Given the description of an element on the screen output the (x, y) to click on. 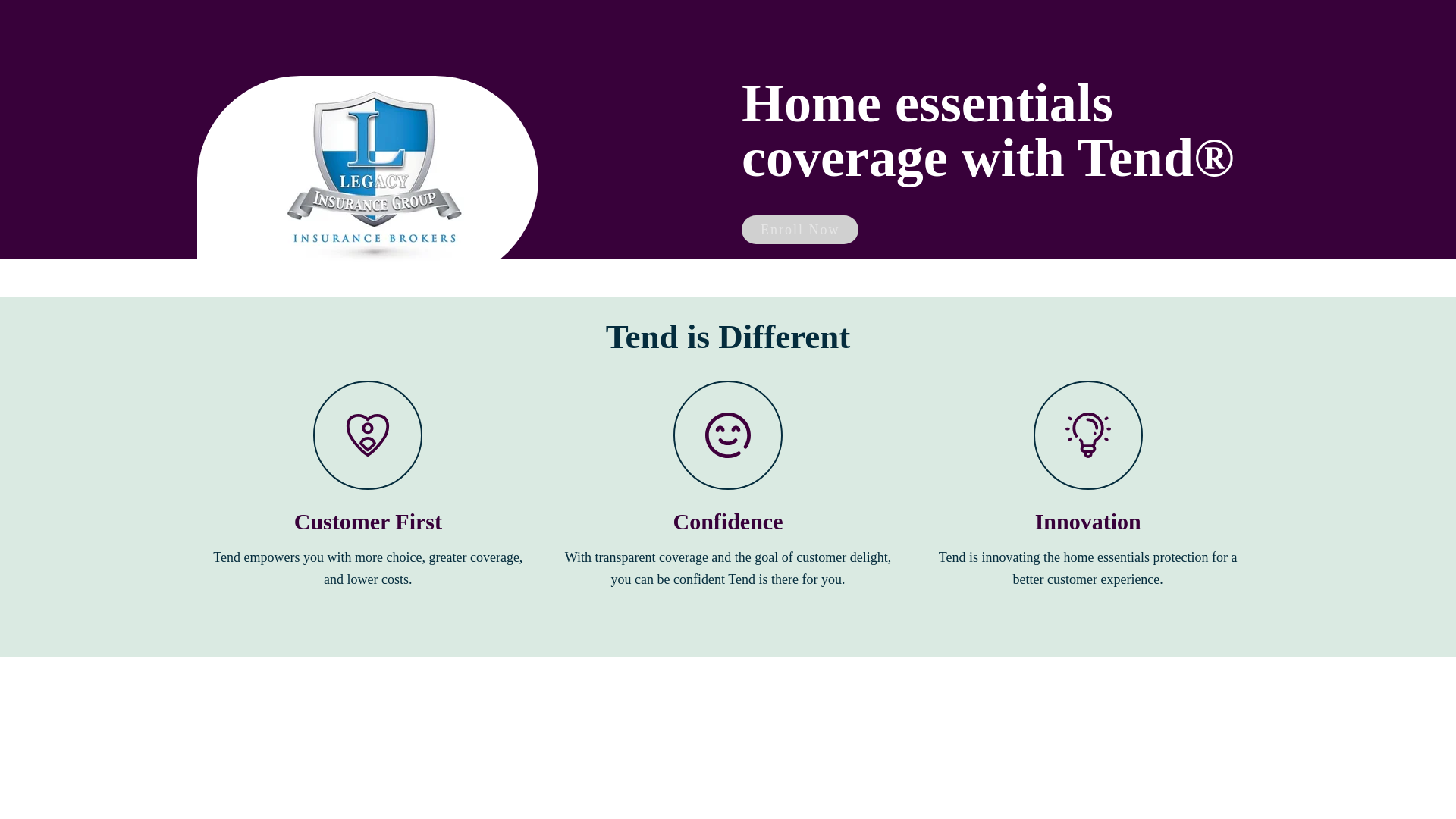
Enroll Now (800, 229)
